Given the description of an element on the screen output the (x, y) to click on. 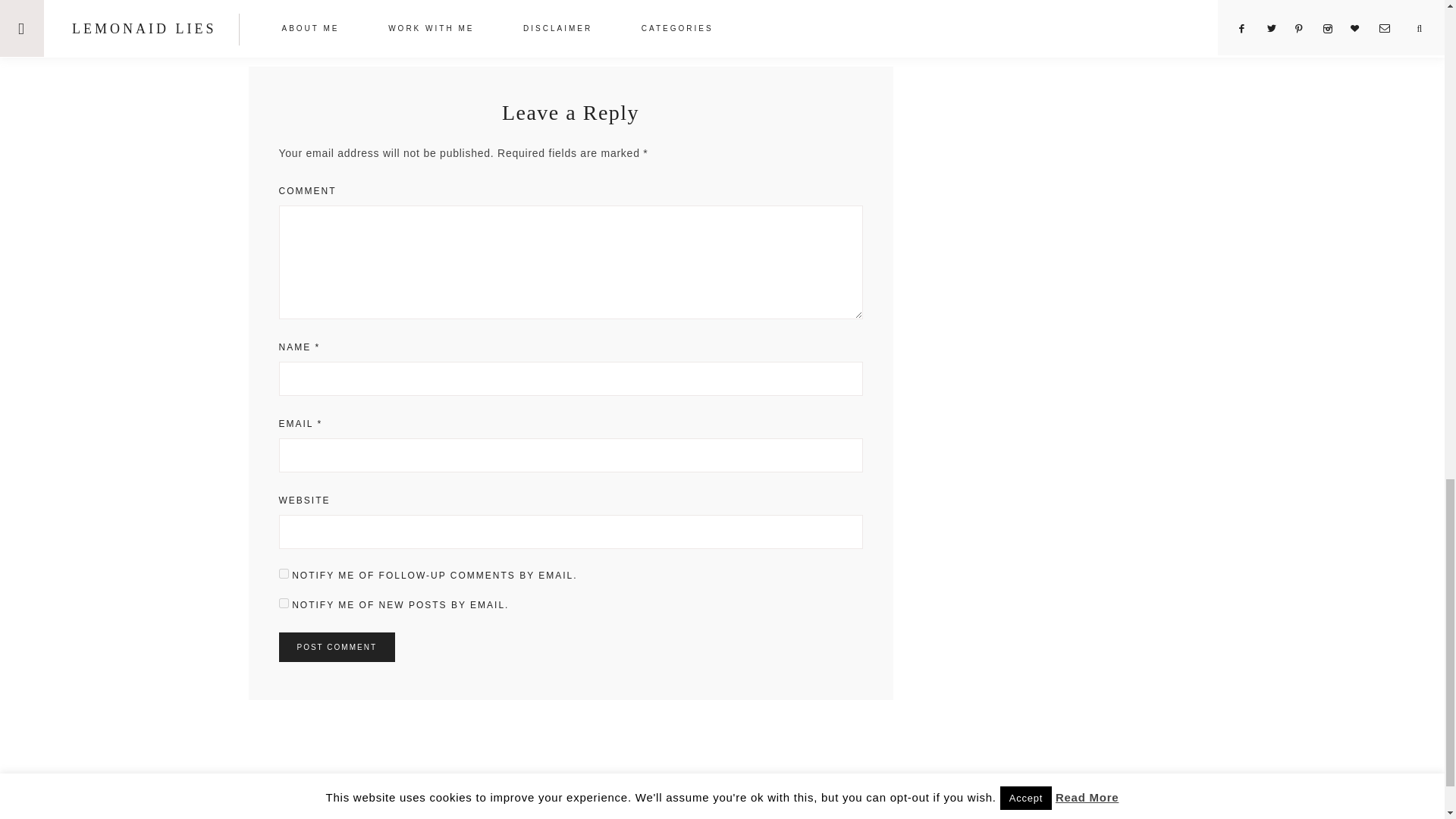
subscribe (283, 603)
subscribe (283, 573)
Post Comment (336, 646)
